Given the description of an element on the screen output the (x, y) to click on. 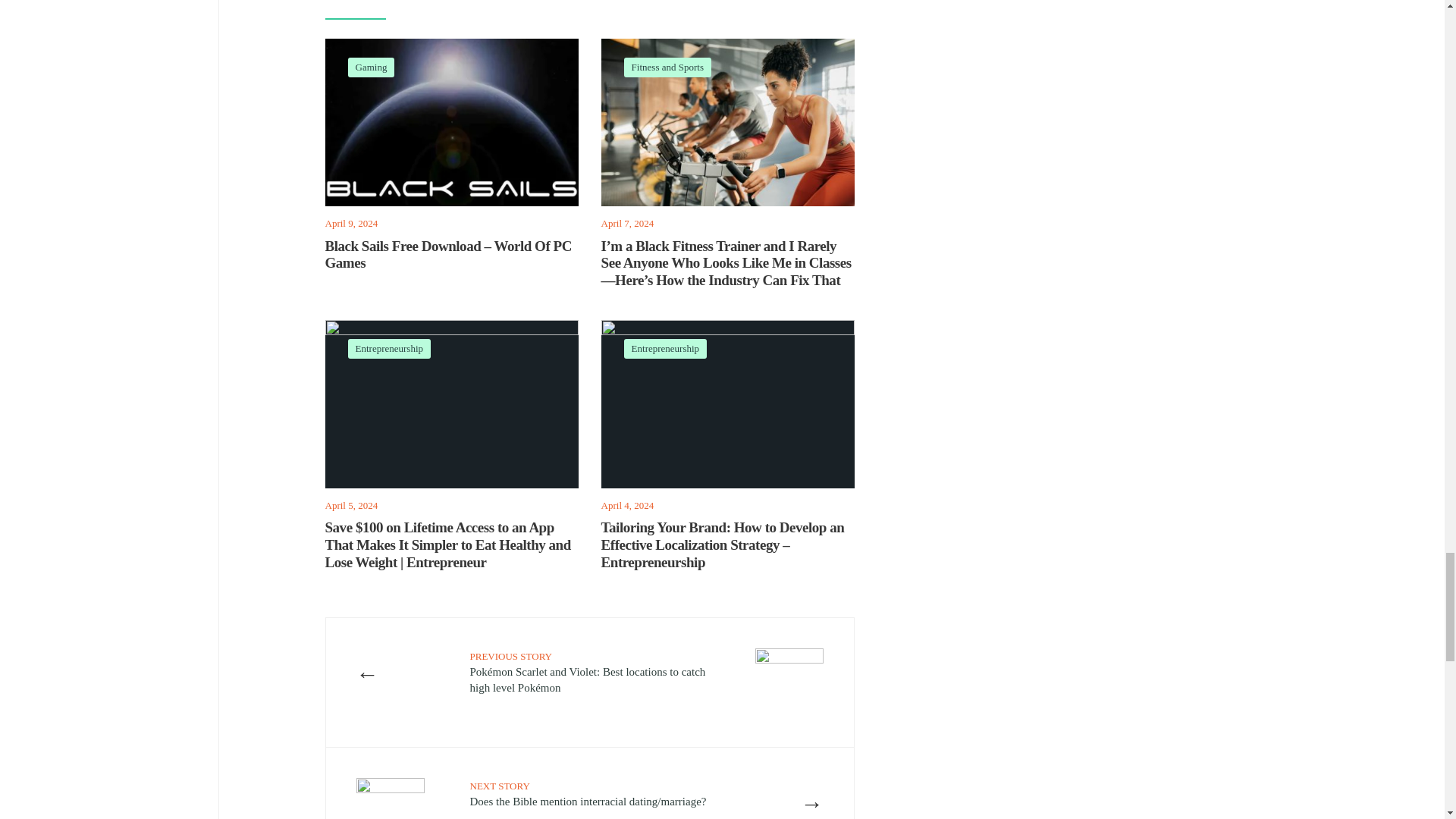
Entrepreneurship (389, 348)
Fitness and Sports (667, 66)
Gaming (371, 66)
Entrepreneurship (665, 348)
